Given the description of an element on the screen output the (x, y) to click on. 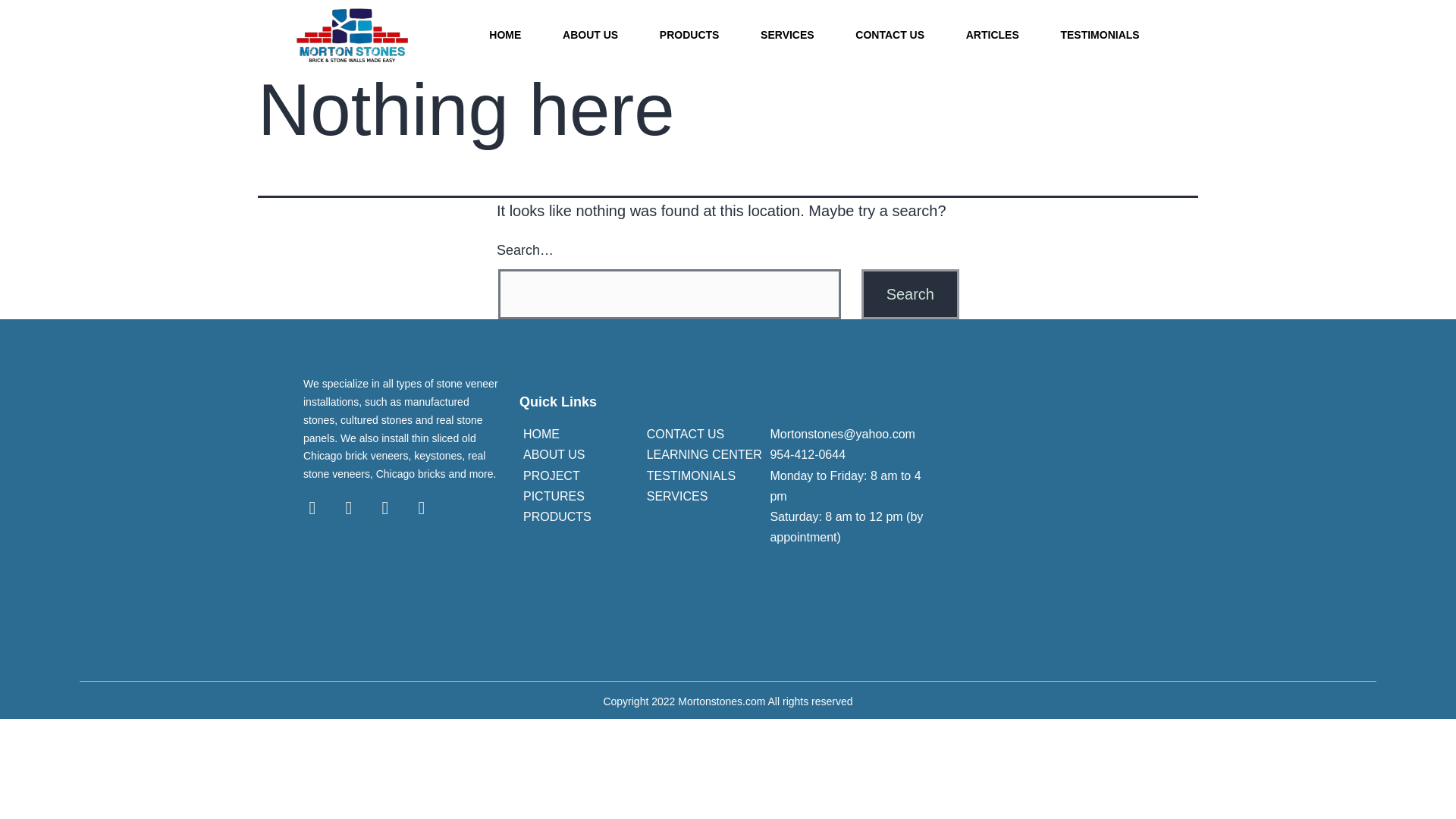
SERVICES (676, 495)
CONTACT US (685, 433)
HOME (540, 433)
SERVICES (786, 34)
ABOUT US (590, 34)
PRODUCTS (689, 34)
PRODUCTS (556, 516)
LEARNING CENTER (703, 454)
Search (910, 294)
CONTACT US (889, 34)
